Given the description of an element on the screen output the (x, y) to click on. 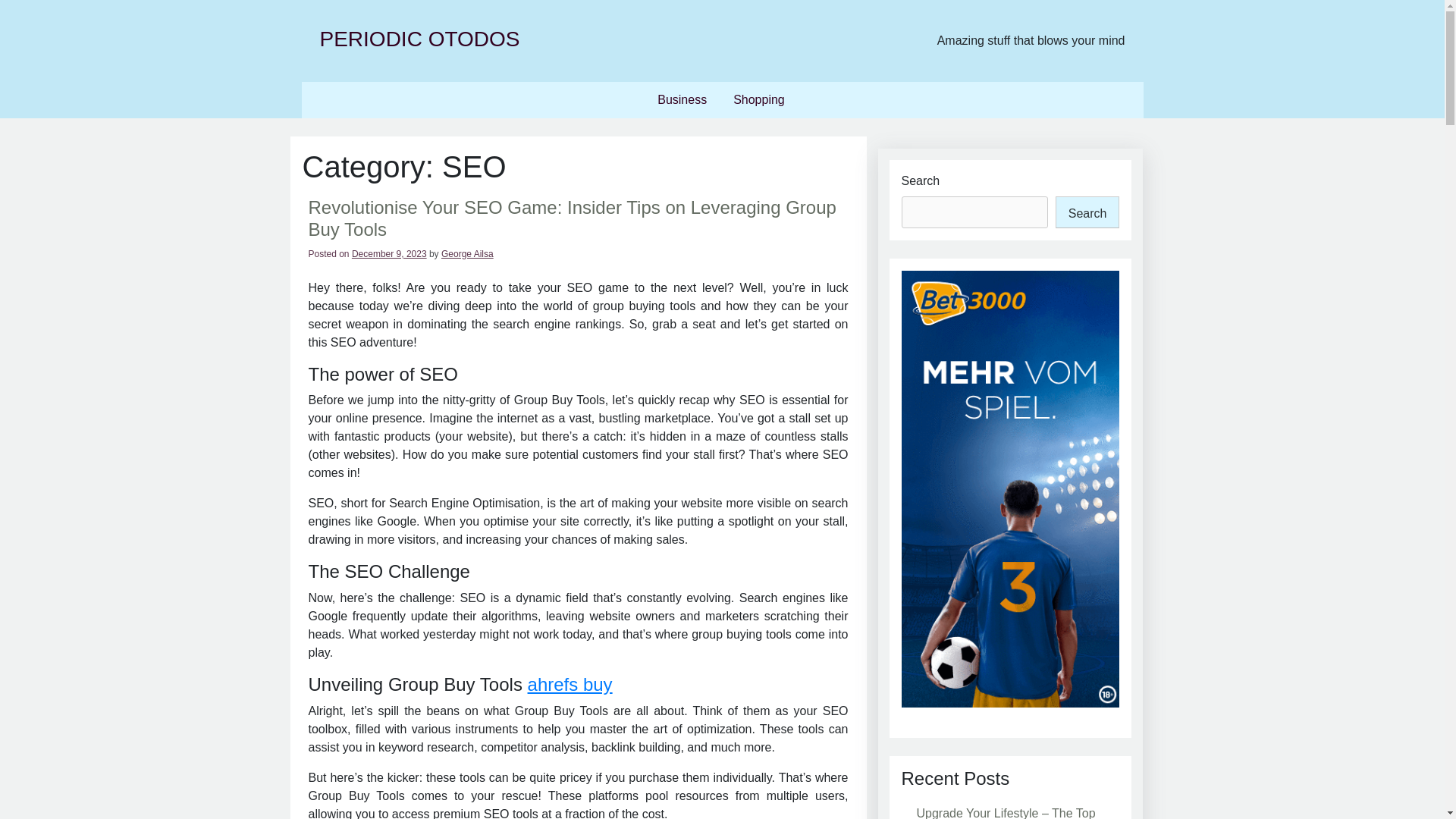
Search (1087, 212)
Shopping (758, 99)
December 9, 2023 (389, 253)
PERIODIC OTODOS (419, 38)
George Ailsa (467, 253)
ahrefs buy (569, 684)
Business (682, 99)
